Given the description of an element on the screen output the (x, y) to click on. 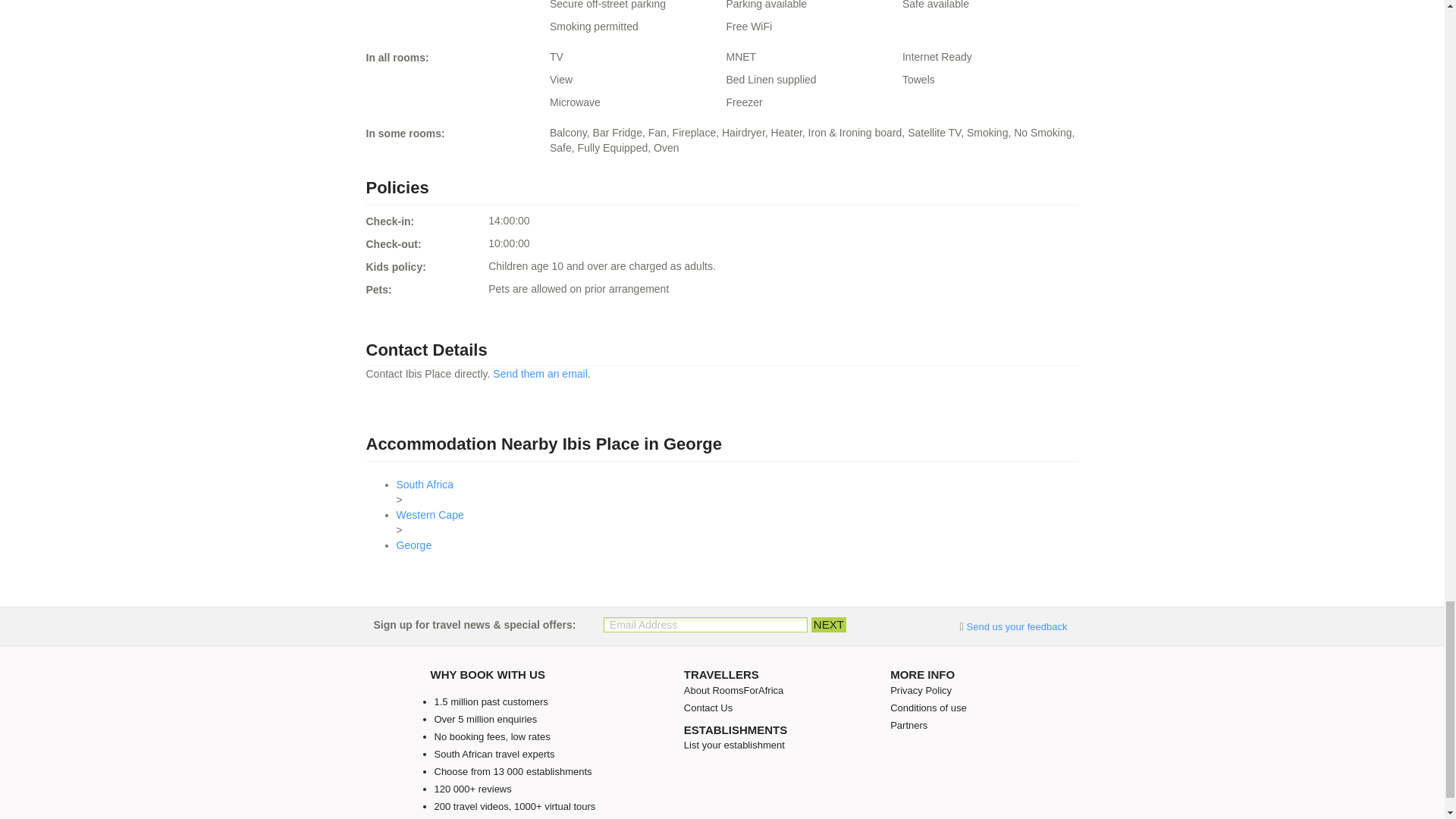
Email Address (706, 624)
Email Address (706, 624)
Next (827, 624)
